Given the description of an element on the screen output the (x, y) to click on. 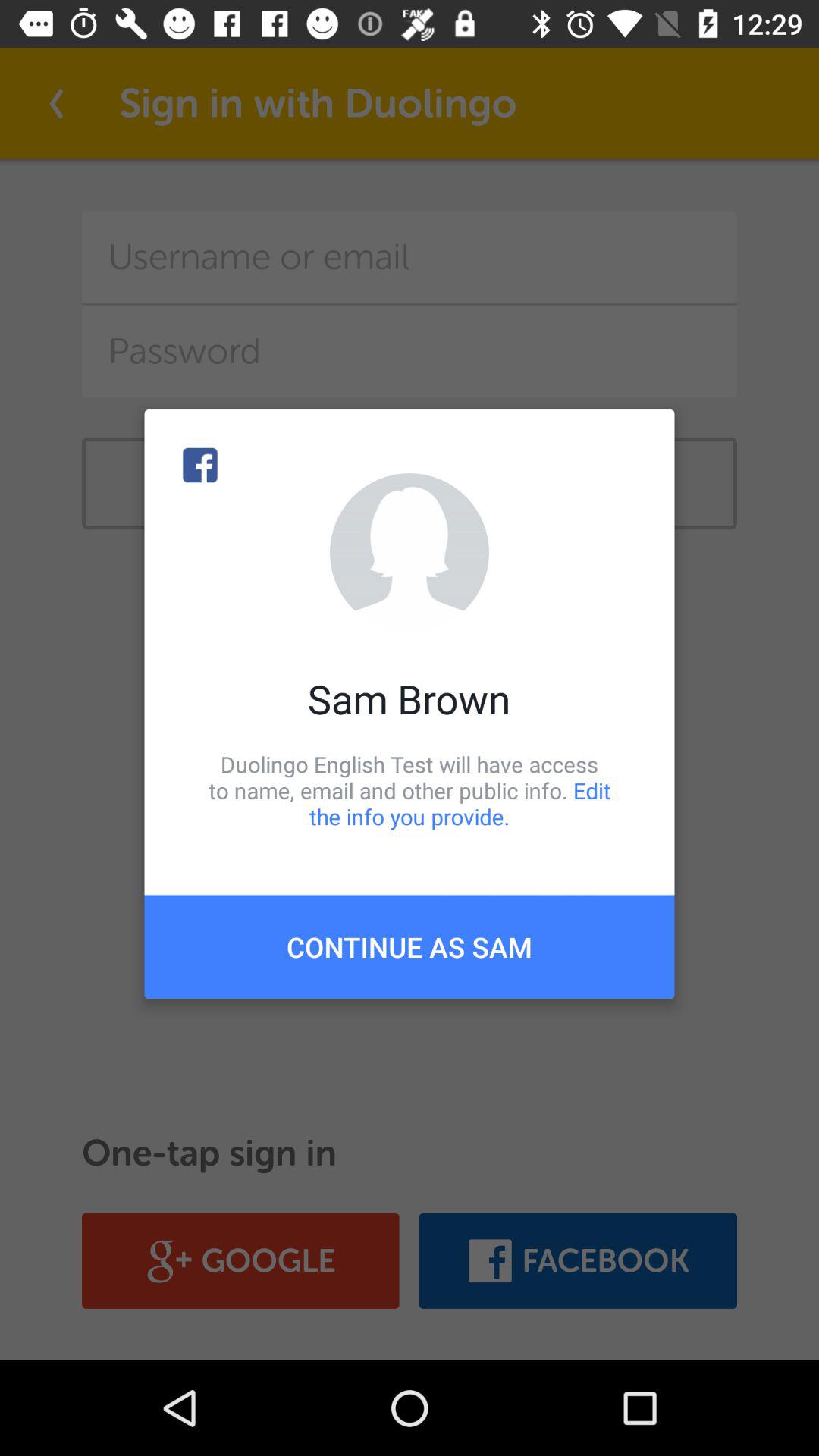
click duolingo english test icon (409, 790)
